Given the description of an element on the screen output the (x, y) to click on. 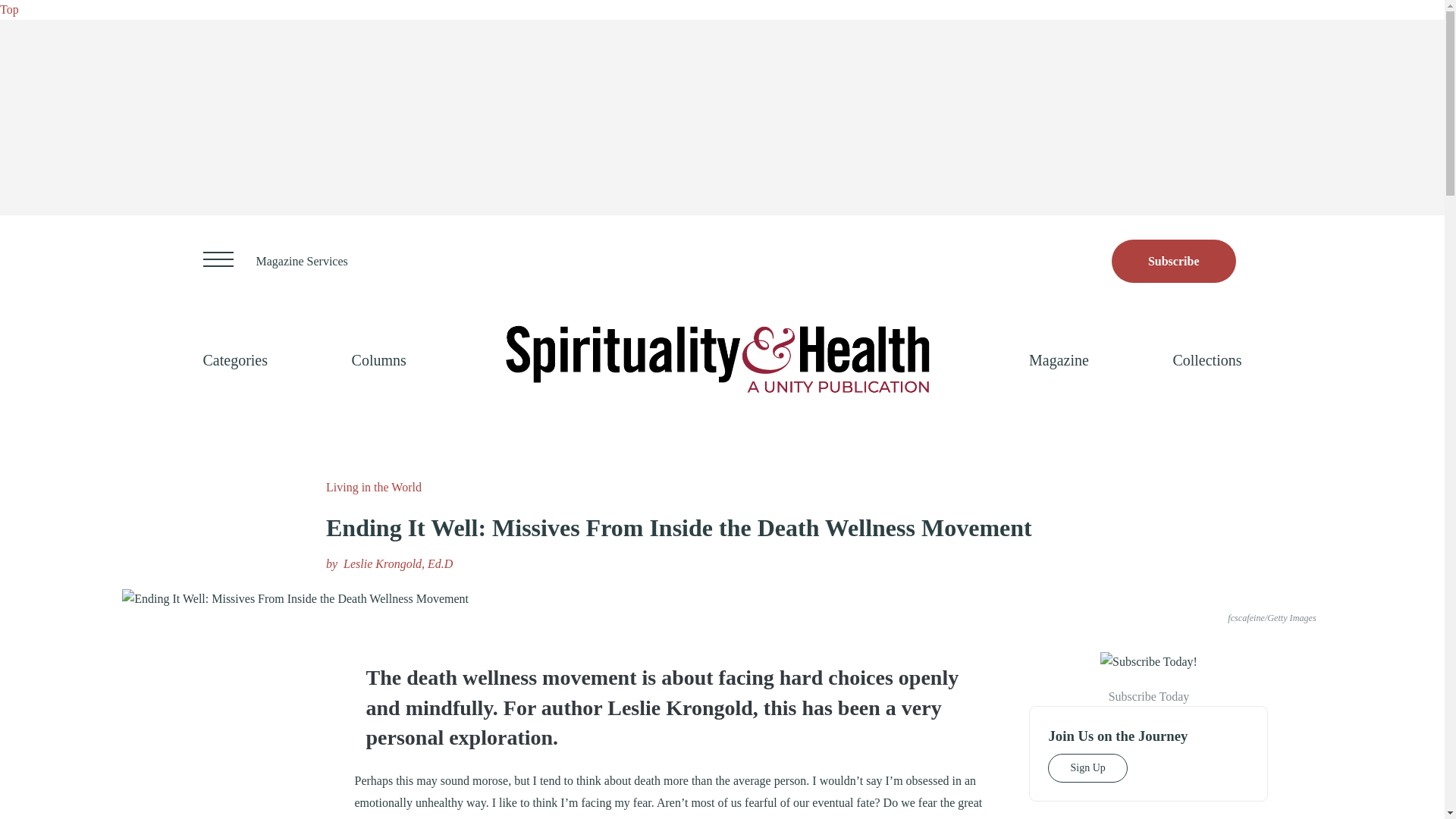
Opens to Store site (1174, 261)
Columns (379, 359)
Magazine Services (301, 260)
Collections (1206, 359)
Magazine (1059, 359)
Top (9, 9)
Subscribe (1174, 261)
Categories (235, 359)
